Given the description of an element on the screen output the (x, y) to click on. 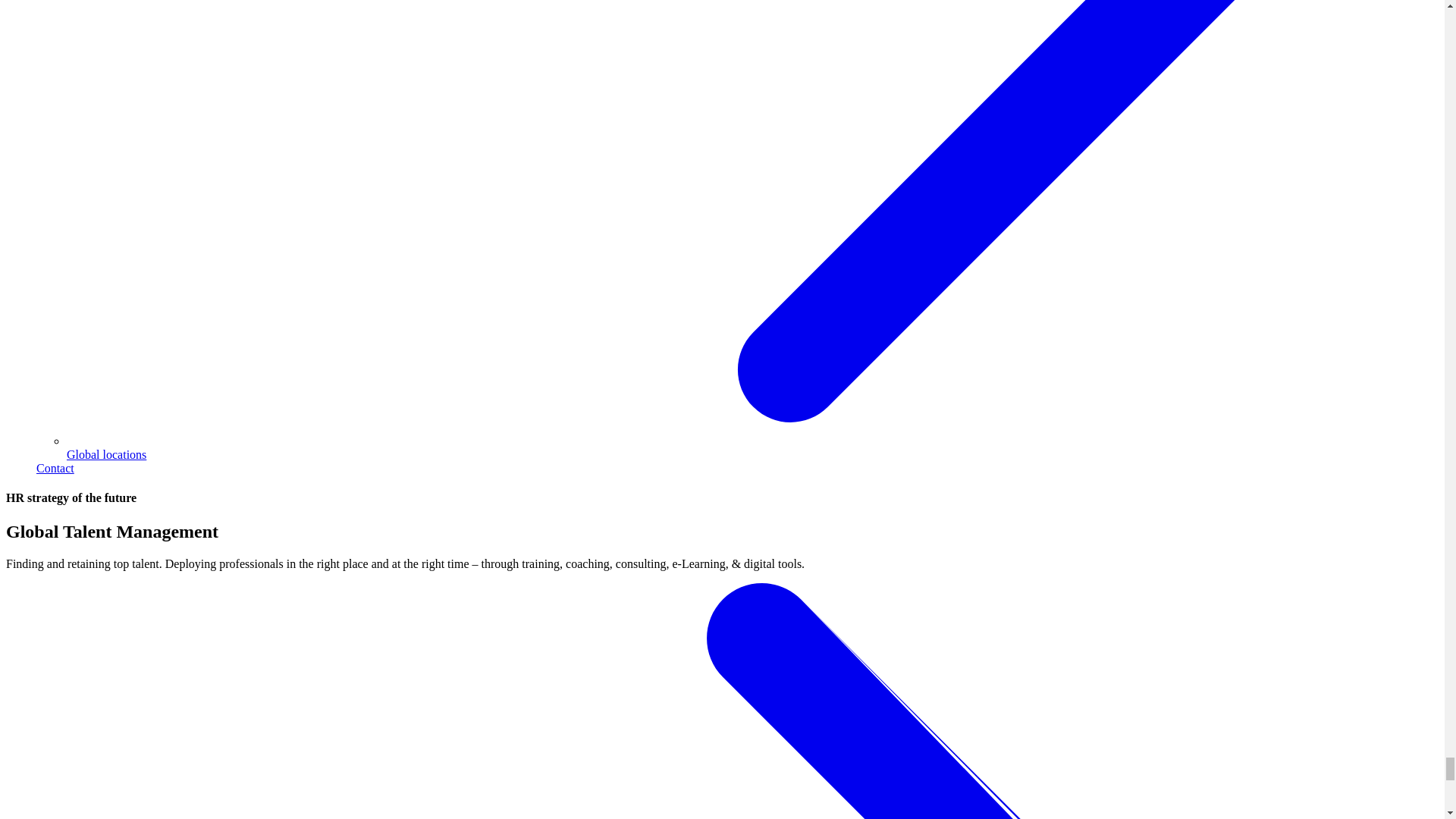
Global Talent Management: Learn more (55, 468)
